Given the description of an element on the screen output the (x, y) to click on. 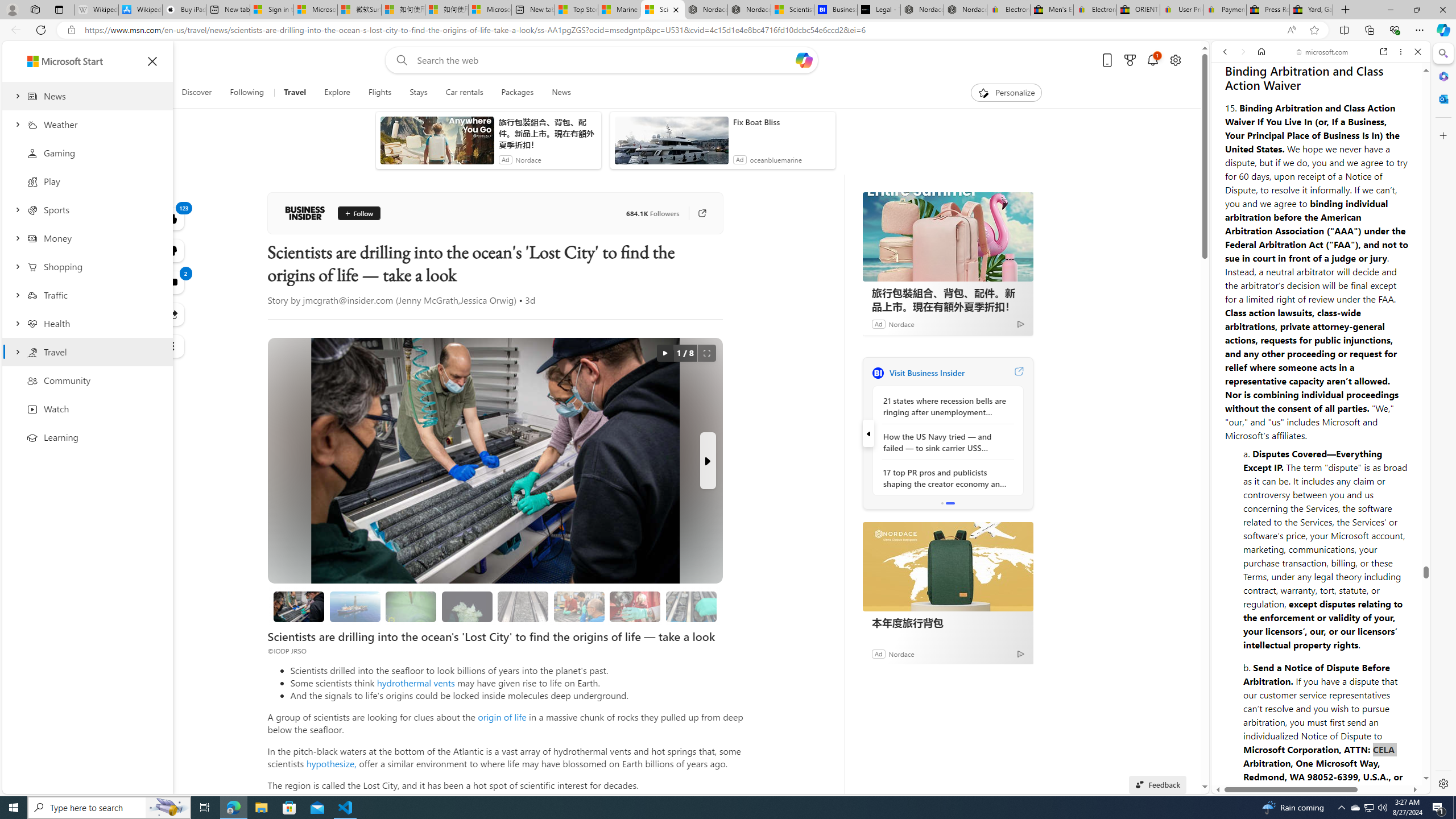
123 (172, 250)
Explore (336, 92)
